Given the description of an element on the screen output the (x, y) to click on. 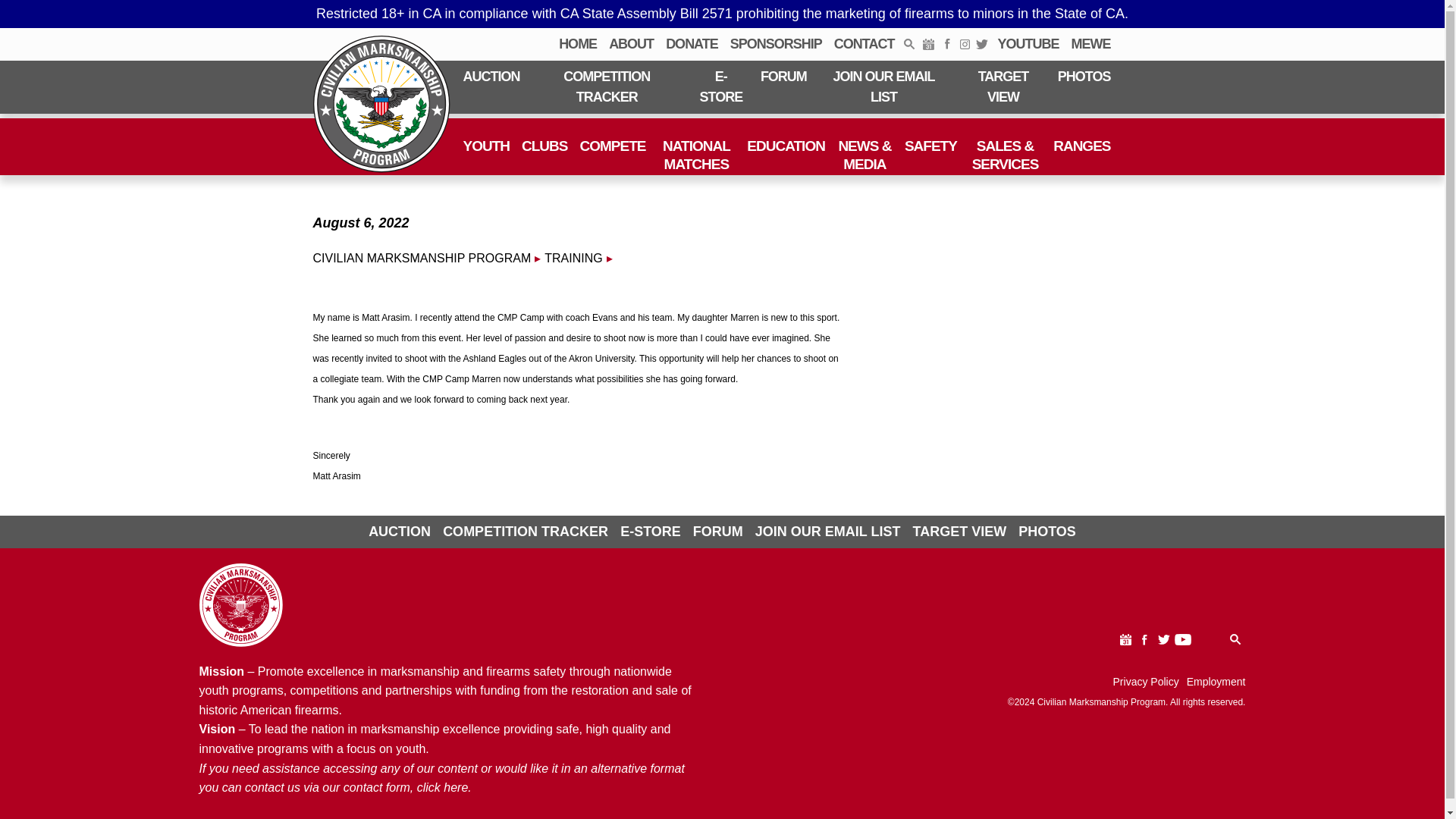
Go to the Training Feedback Type archives. (573, 257)
ABOUT (630, 43)
DONATE (691, 43)
COMPETITION TRACKER (606, 86)
AUCTION (491, 76)
HOME (577, 43)
MEWE (1090, 43)
YOUTUBE (1027, 43)
TARGET VIEW (1003, 86)
FORUM (783, 76)
JOIN OUR EMAIL LIST (883, 86)
Civilian Marksmanship Program (381, 104)
CONTACT (864, 43)
Go to Civilian Marksmanship Program. (422, 257)
E-STORE (720, 86)
